Given the description of an element on the screen output the (x, y) to click on. 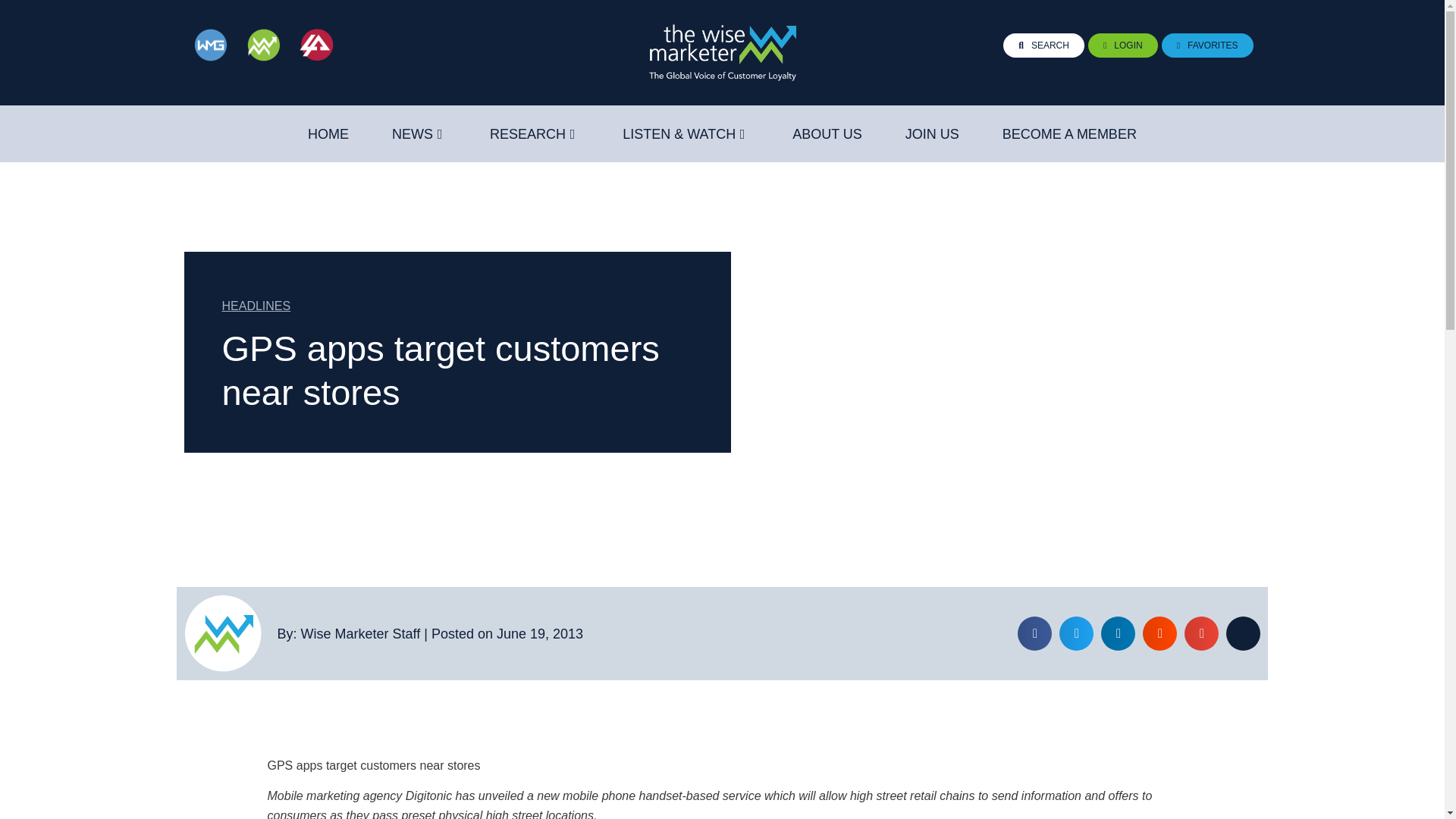
FAVORITES (1207, 45)
WM Circle Logo (222, 633)
ABOUT US (826, 134)
LOGIN (1122, 45)
SEARCH (1043, 45)
BECOME A MEMBER (1070, 134)
RESEARCH (527, 134)
HOME (328, 134)
NEWS (411, 134)
JOIN US (932, 134)
